Given the description of an element on the screen output the (x, y) to click on. 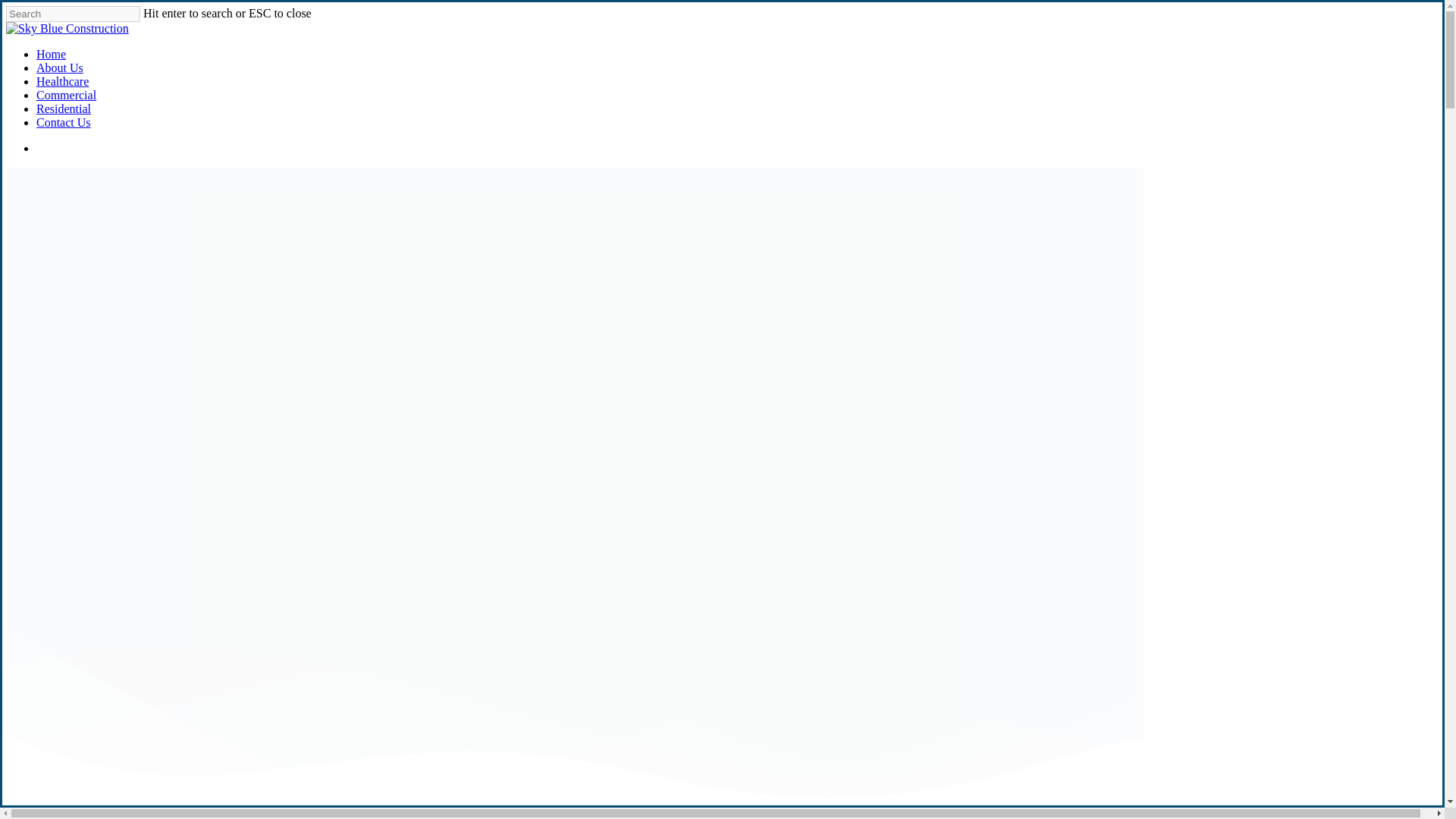
Home (50, 53)
About Us (59, 67)
Contact Us (63, 122)
Commercial (66, 94)
Healthcare (62, 81)
Residential (63, 108)
